Given the description of an element on the screen output the (x, y) to click on. 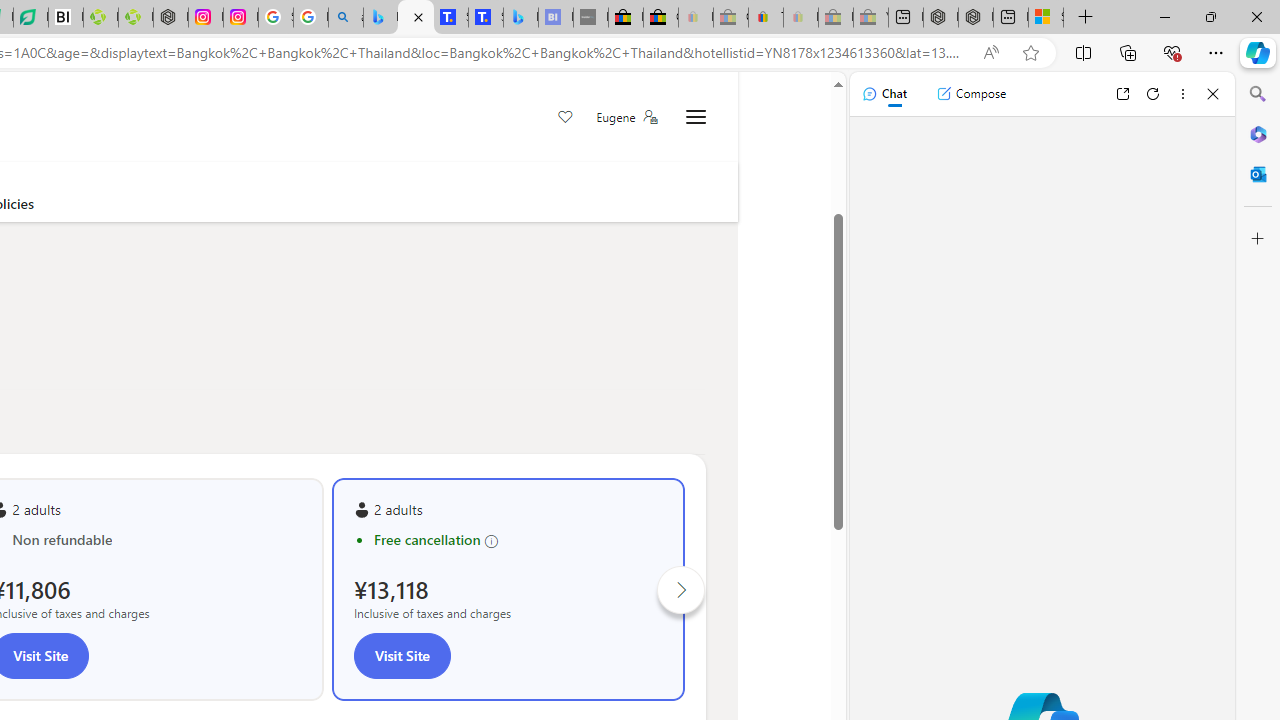
Compose (971, 93)
Click to scroll right (681, 589)
